Given the description of an element on the screen output the (x, y) to click on. 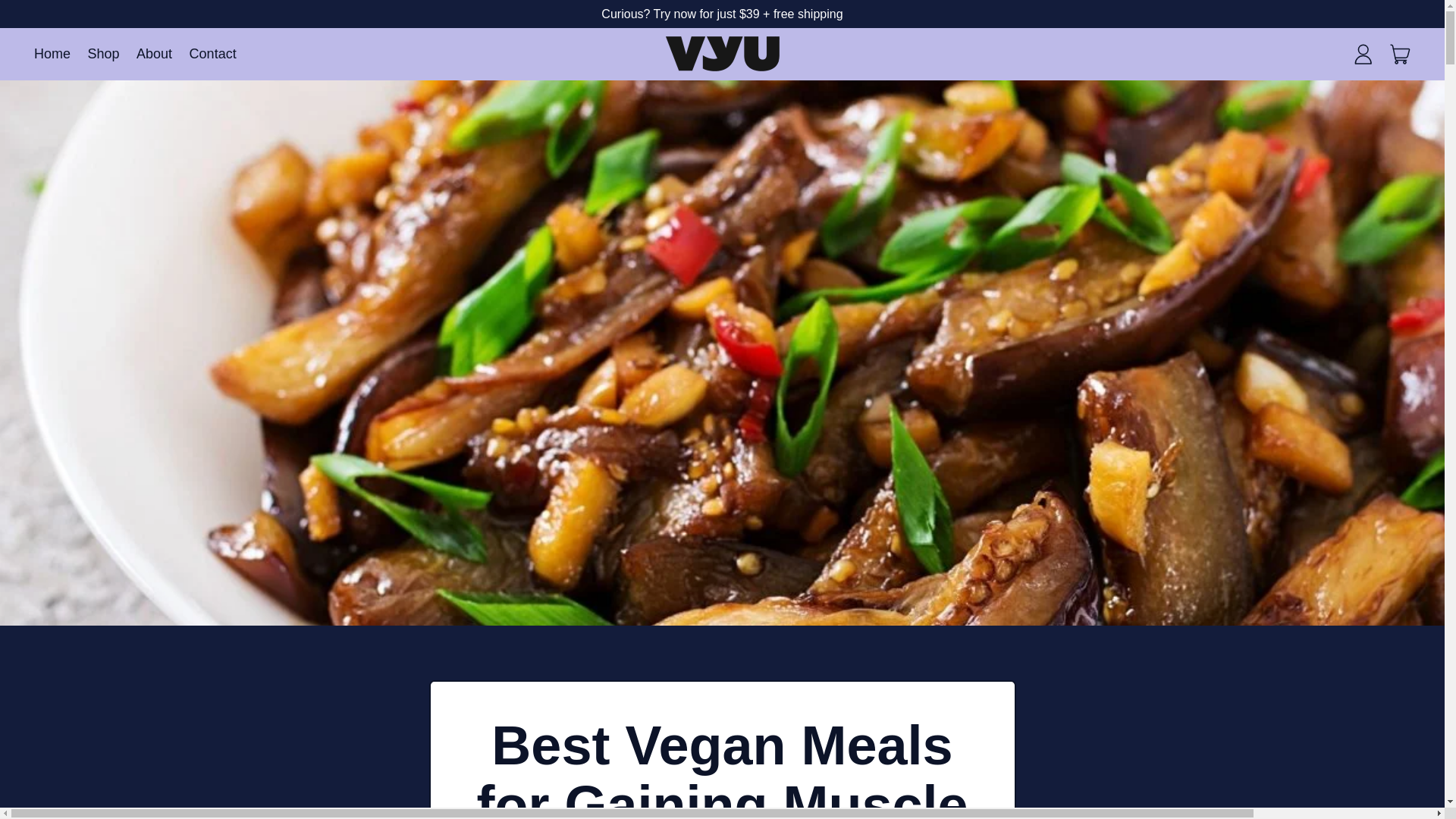
Log in (1400, 53)
Contact (1362, 53)
Shop (212, 53)
About (103, 53)
Home (154, 53)
